Given the description of an element on the screen output the (x, y) to click on. 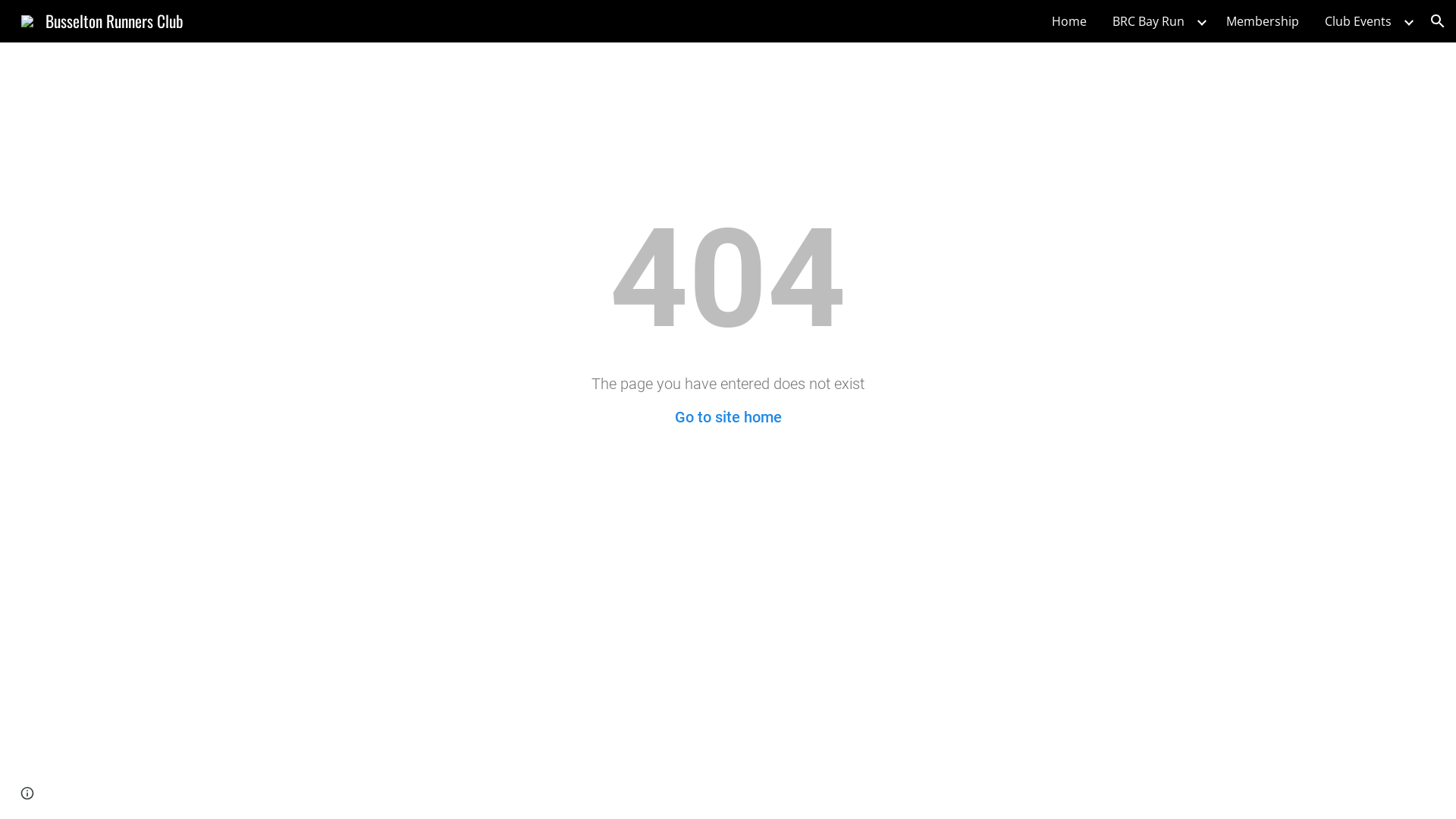
BRC Bay Run Element type: text (1148, 20)
Membership Element type: text (1262, 20)
Club Events Element type: text (1358, 20)
Go to site home Element type: text (727, 416)
Home Element type: text (1069, 20)
Expand/Collapse Element type: hover (1408, 20)
Busselton Runners Club Element type: text (102, 18)
Expand/Collapse Element type: hover (1201, 20)
